Given the description of an element on the screen output the (x, y) to click on. 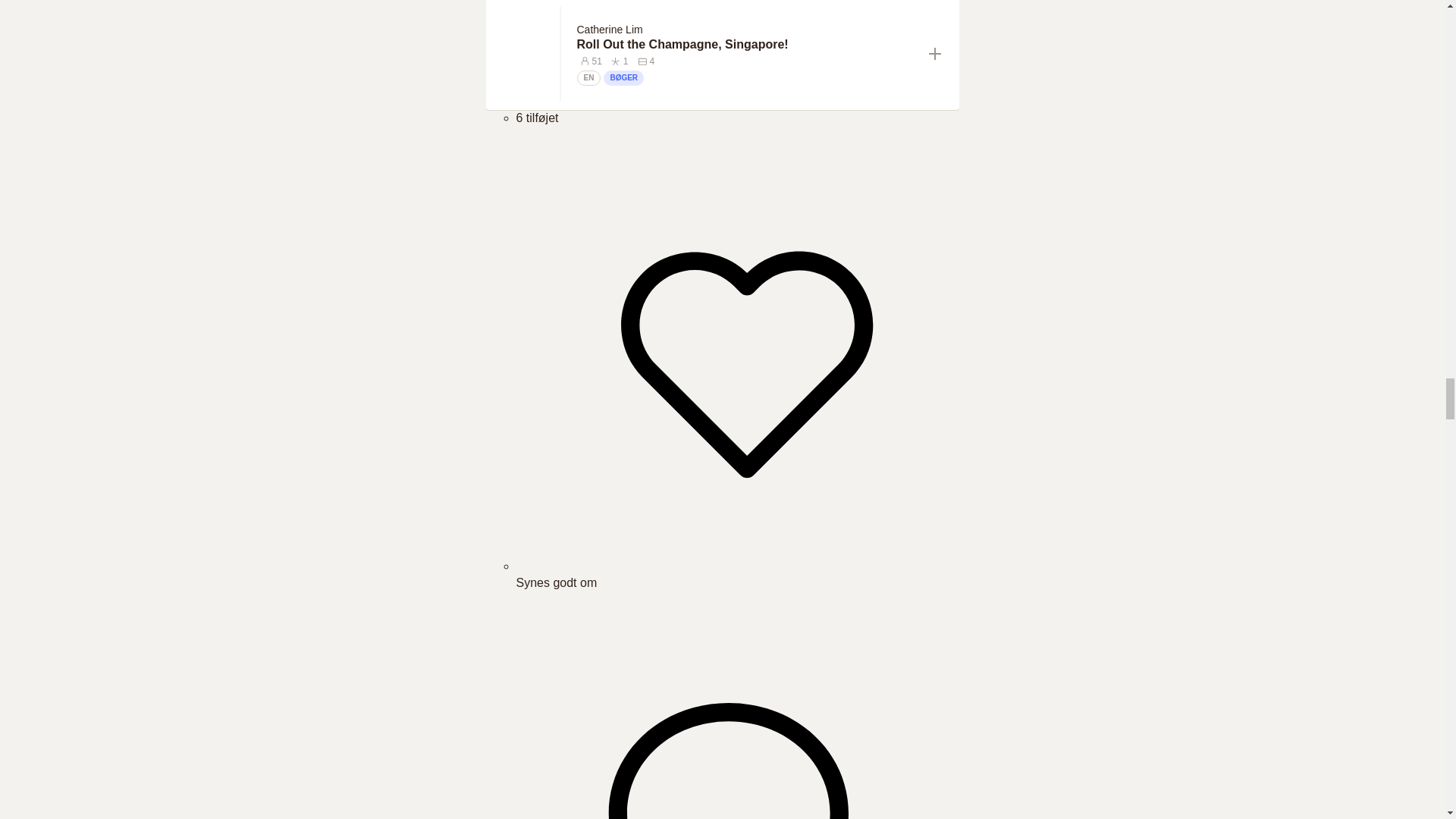
Roll Out the Champagne, Singapore! (745, 44)
Roll Out the Champagne, Singapore! (745, 44)
Catherine Lim (609, 29)
Catherine Lim (611, 29)
